Given the description of an element on the screen output the (x, y) to click on. 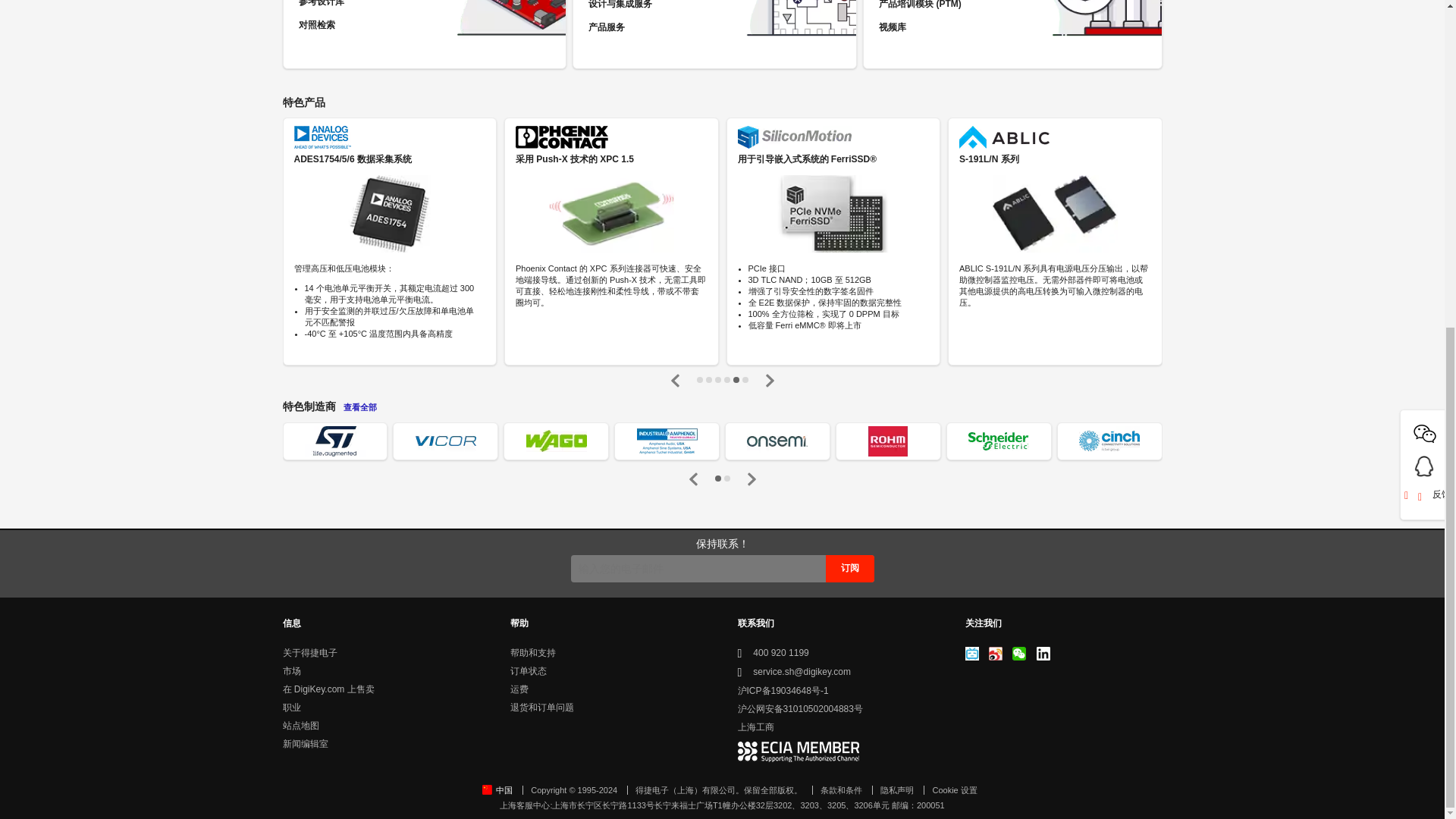
Image of Vicor color logo (445, 440)
Image of WAGO logo (555, 440)
Image of ROHM Semiconductor logo (887, 440)
Image of Amphenol Sine Systems color (667, 440)
Image of Cinch Connectivity Solutions logo (1109, 440)
Image of STMicroelectronics color logo (334, 440)
Image of Schneider Electric logo (998, 440)
Image of onsemi logo (777, 440)
